Given the description of an element on the screen output the (x, y) to click on. 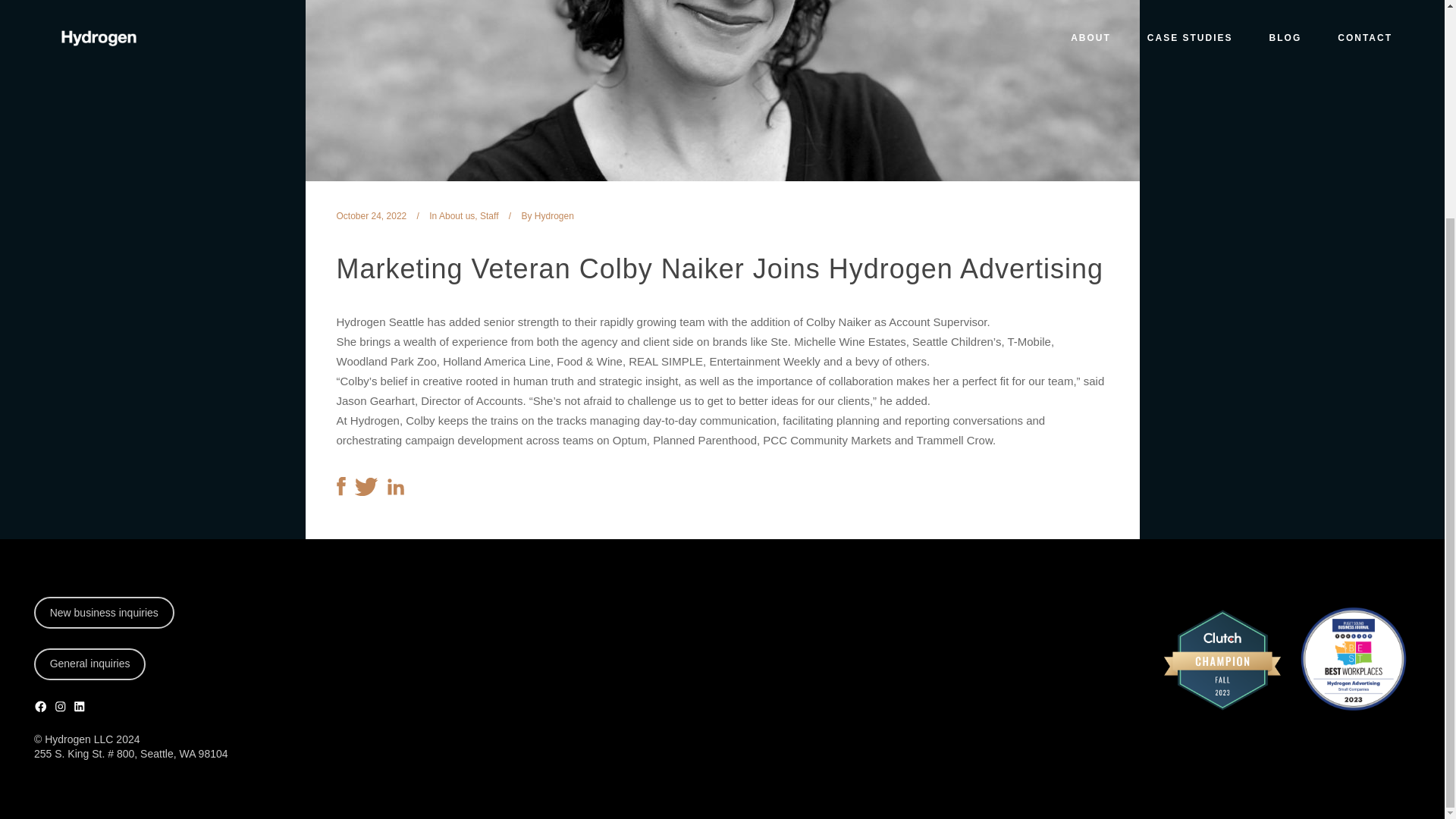
Share on LinkedIn (395, 490)
About us (456, 215)
Share on Twitter (366, 490)
Facebook (40, 418)
Instagram (59, 418)
LinkedIn (78, 418)
Staff (488, 215)
New business inquiries (103, 325)
Hydrogen (553, 215)
General inquiries (89, 377)
